Given the description of an element on the screen output the (x, y) to click on. 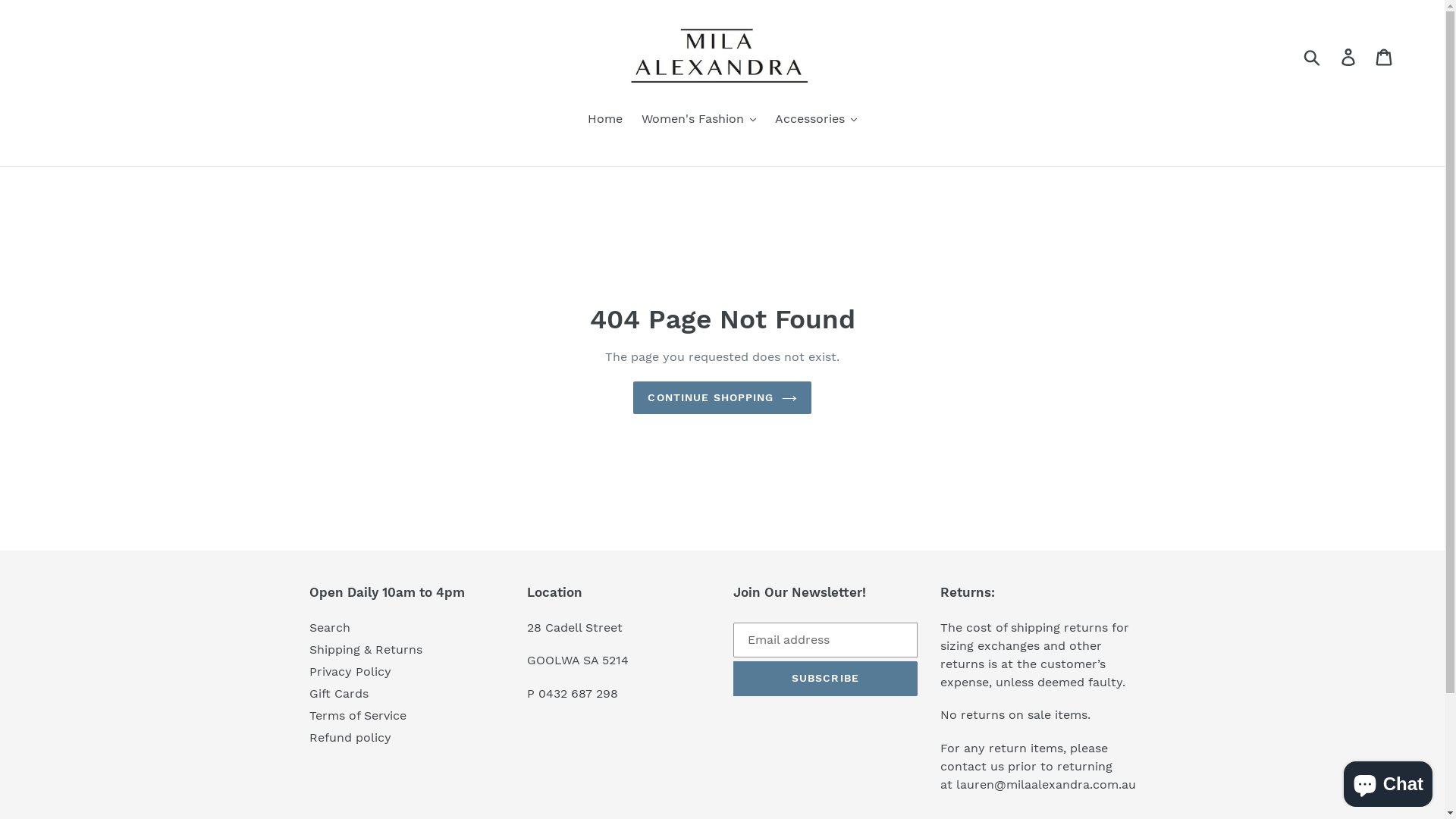
Shipping & Returns Element type: text (365, 649)
lauren@milaalexandra.com.au Element type: text (1045, 784)
Gift Cards Element type: text (338, 693)
Submit Element type: text (1312, 56)
CONTINUE SHOPPING Element type: text (721, 397)
Search Element type: text (329, 627)
Cart Element type: text (1384, 57)
Shopify online store chat Element type: hover (1388, 780)
Home Element type: text (605, 119)
Log in Element type: text (1349, 57)
Terms of Service Element type: text (357, 715)
Refund policy Element type: text (350, 737)
SUBSCRIBE Element type: text (824, 678)
Privacy Policy Element type: text (350, 671)
